Given the description of an element on the screen output the (x, y) to click on. 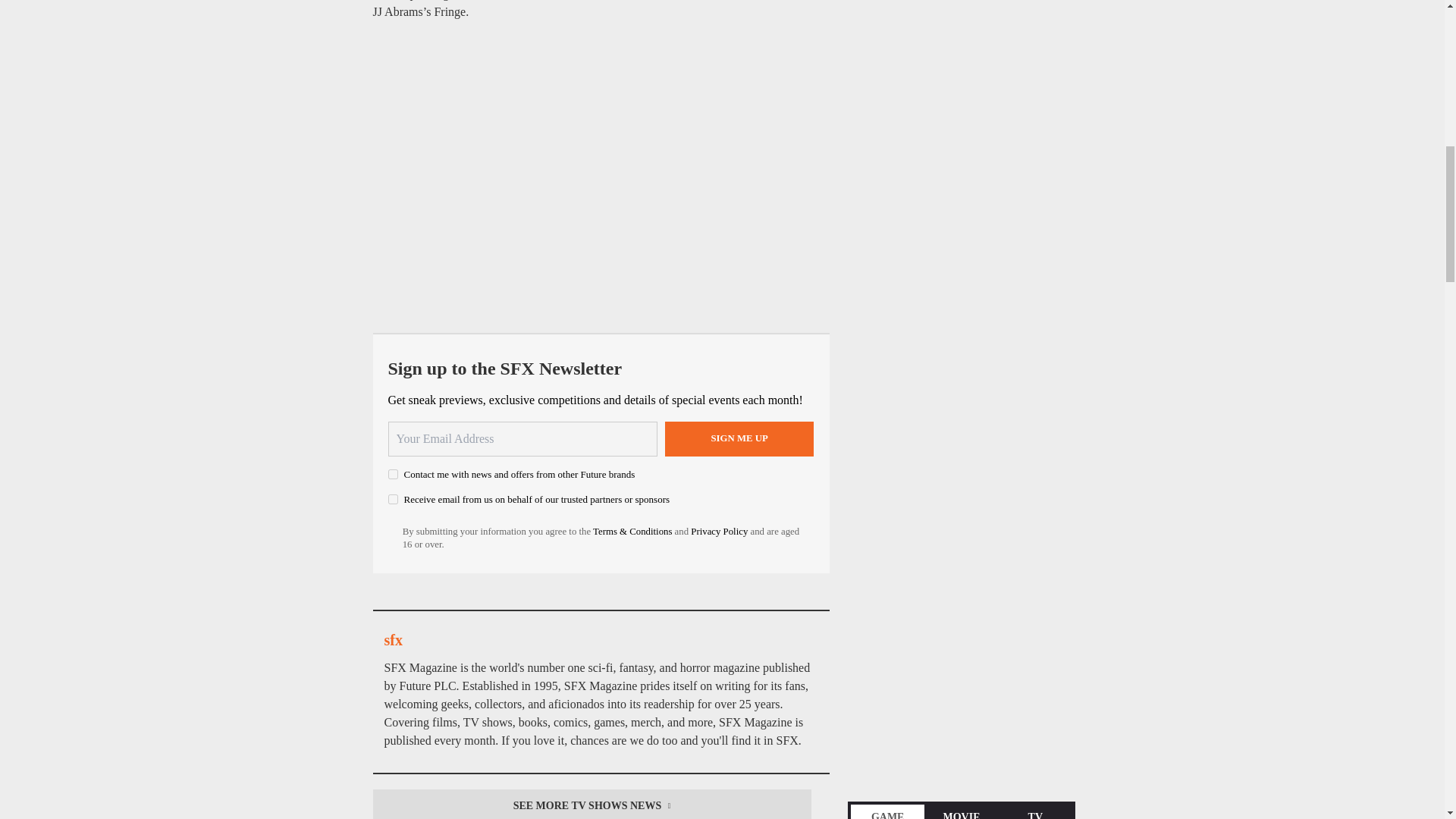
Sign me up (739, 438)
